Given the description of an element on the screen output the (x, y) to click on. 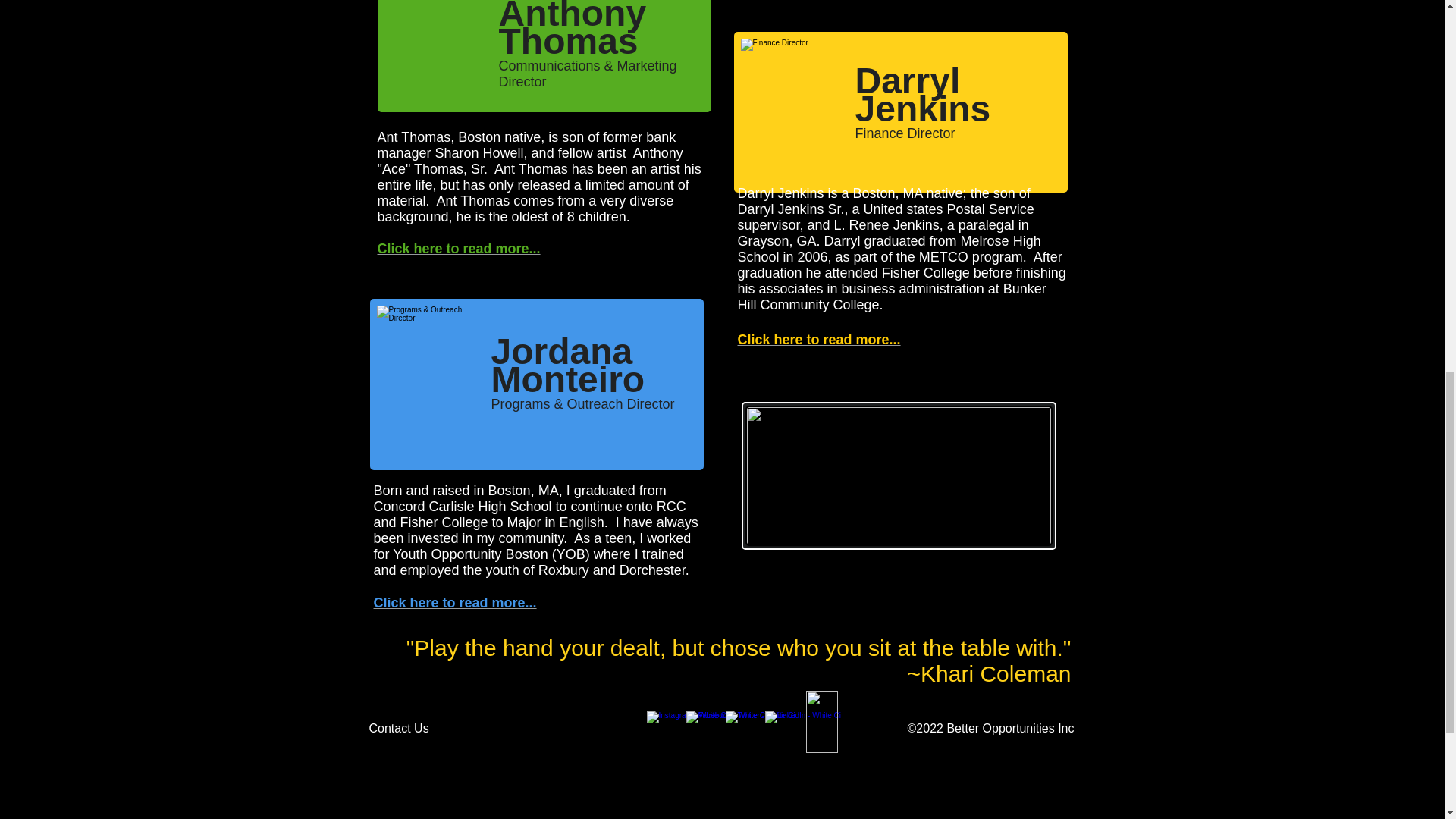
Click here to read more... (453, 602)
Anthony "Ace" Thomas, Sr. (529, 160)
L4B.jpg (897, 475)
Anthony Thomas (430, 56)
Click here to read more... (817, 339)
Contact Us       (408, 727)
Click here to read more... (458, 248)
